Given the description of an element on the screen output the (x, y) to click on. 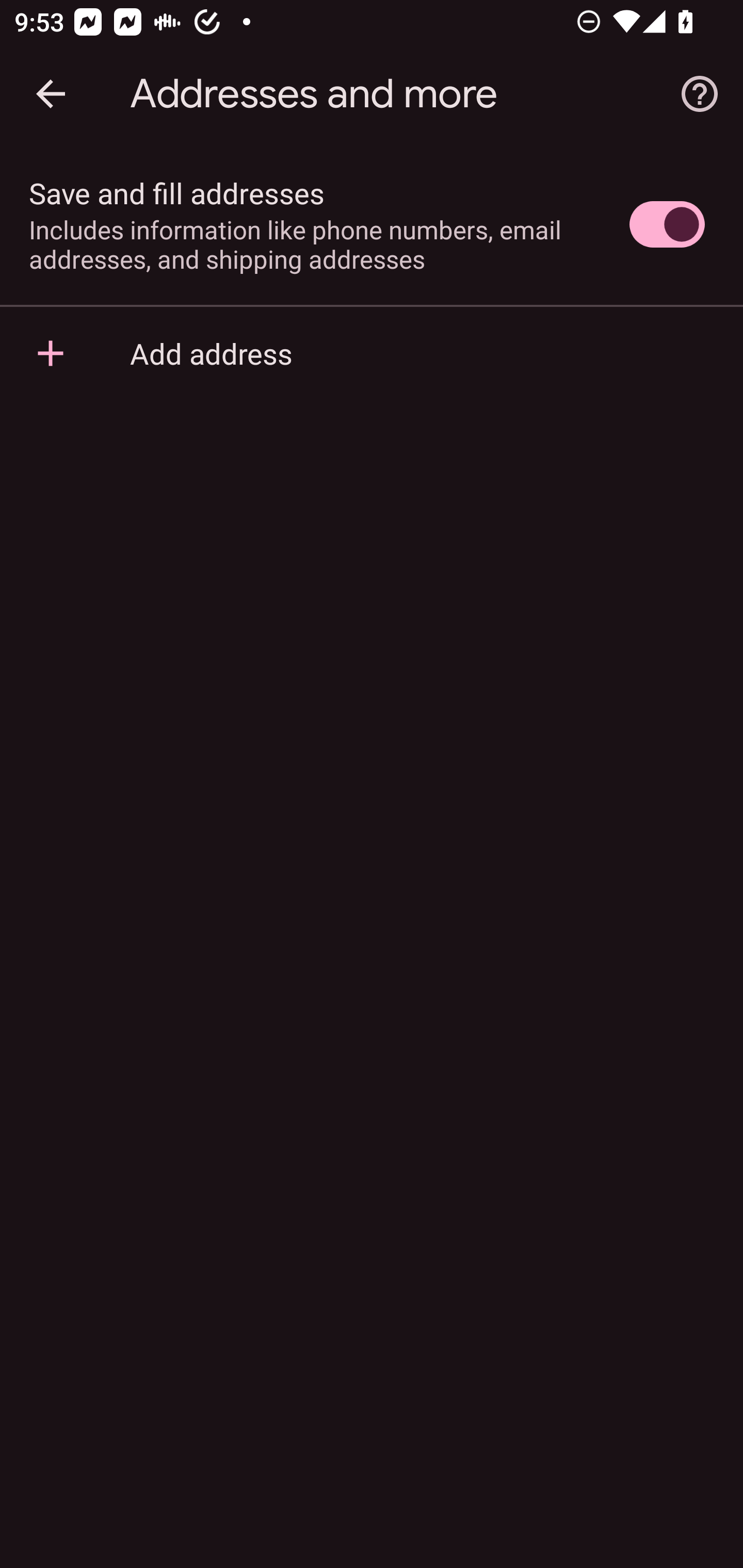
Navigate up (50, 93)
Help & feedback (699, 93)
Add address (371, 352)
